Given the description of an element on the screen output the (x, y) to click on. 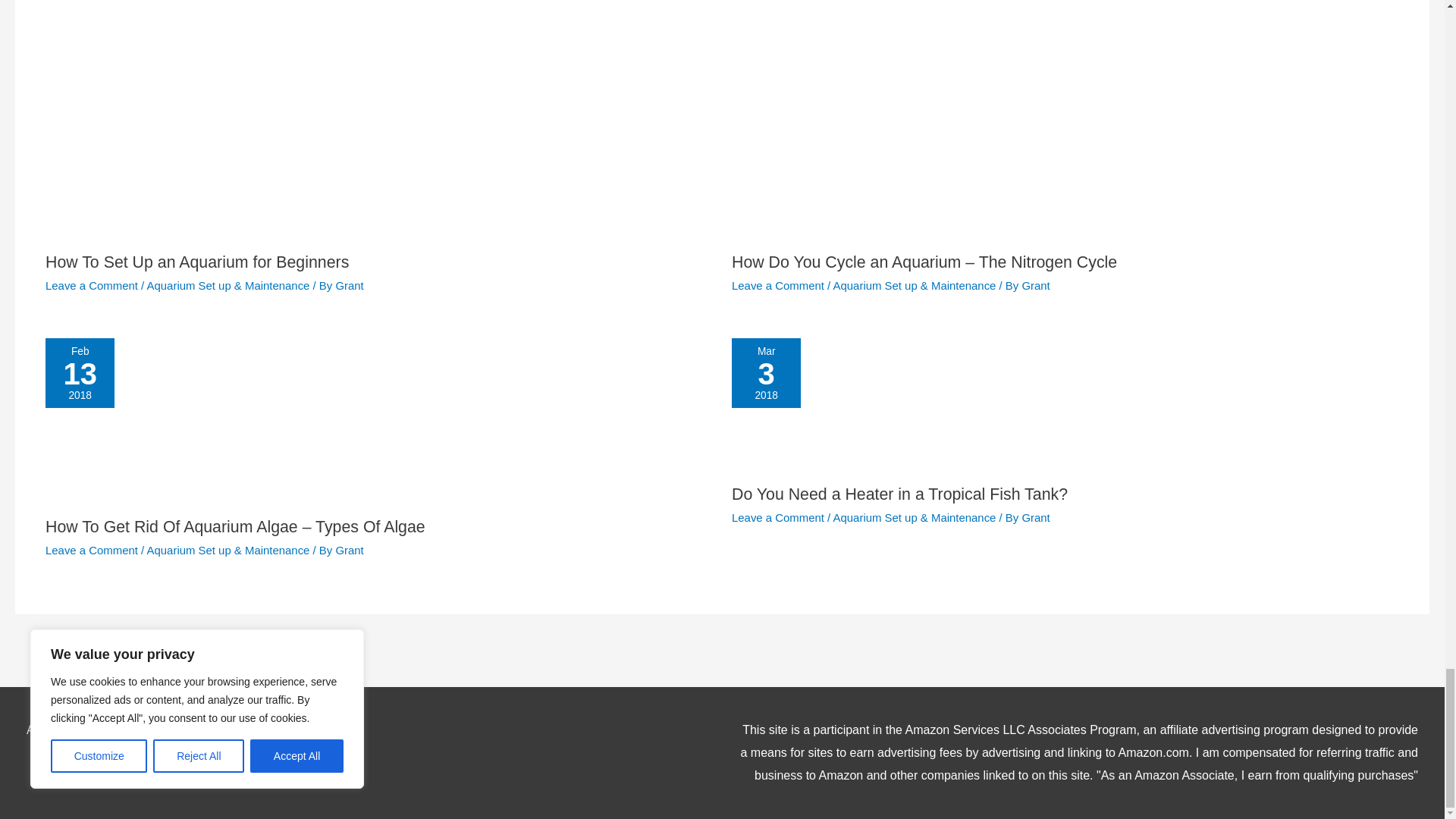
View all posts by Grant (348, 285)
